Given the description of an element on the screen output the (x, y) to click on. 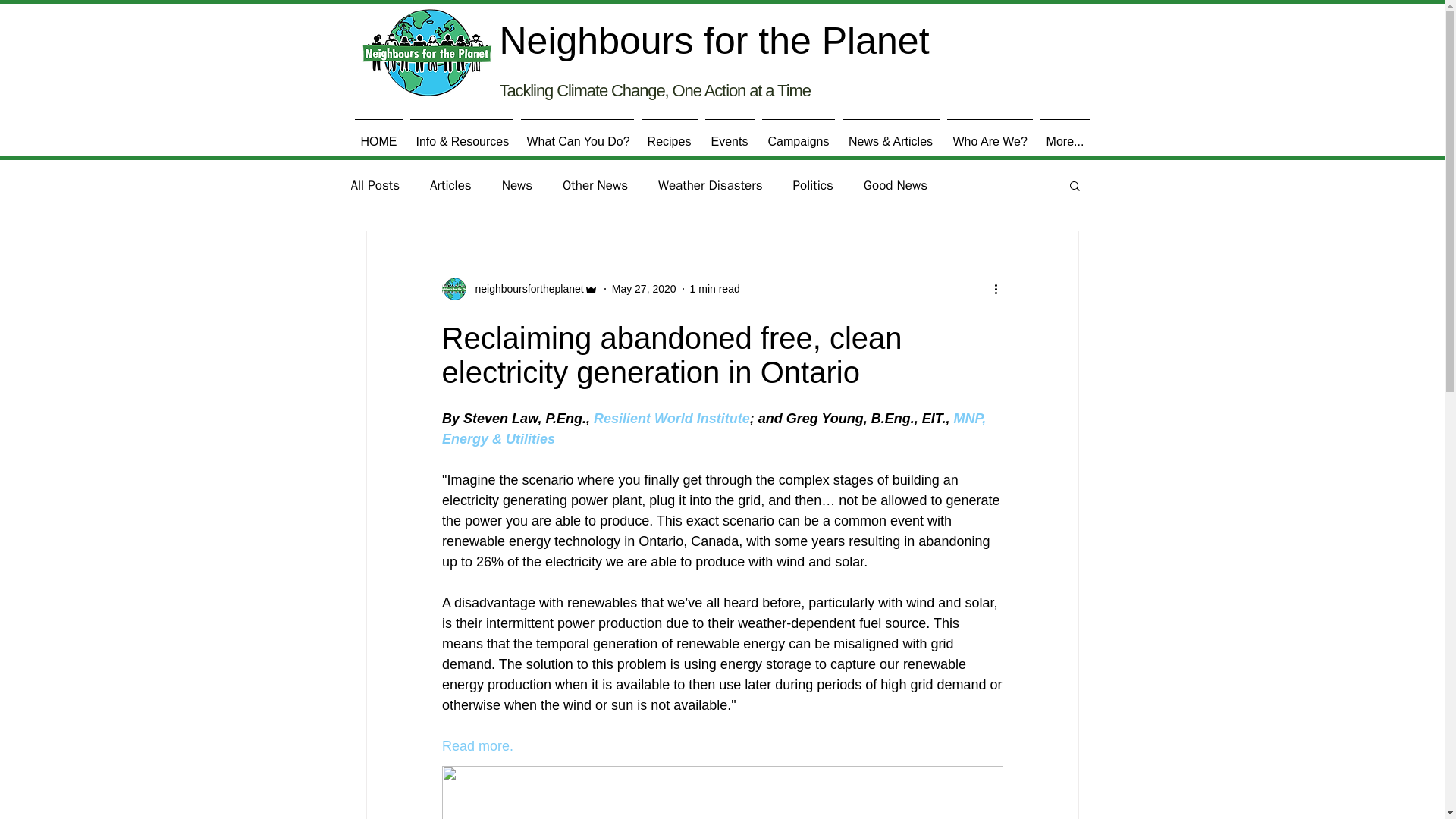
Recipes (668, 133)
Politics (812, 184)
Good News (895, 184)
Articles (450, 184)
All Posts (374, 184)
neighboursfortheplanet (524, 288)
1 min read (714, 287)
May 27, 2020 (644, 287)
Other News (594, 184)
Weather Disasters (710, 184)
